Given the description of an element on the screen output the (x, y) to click on. 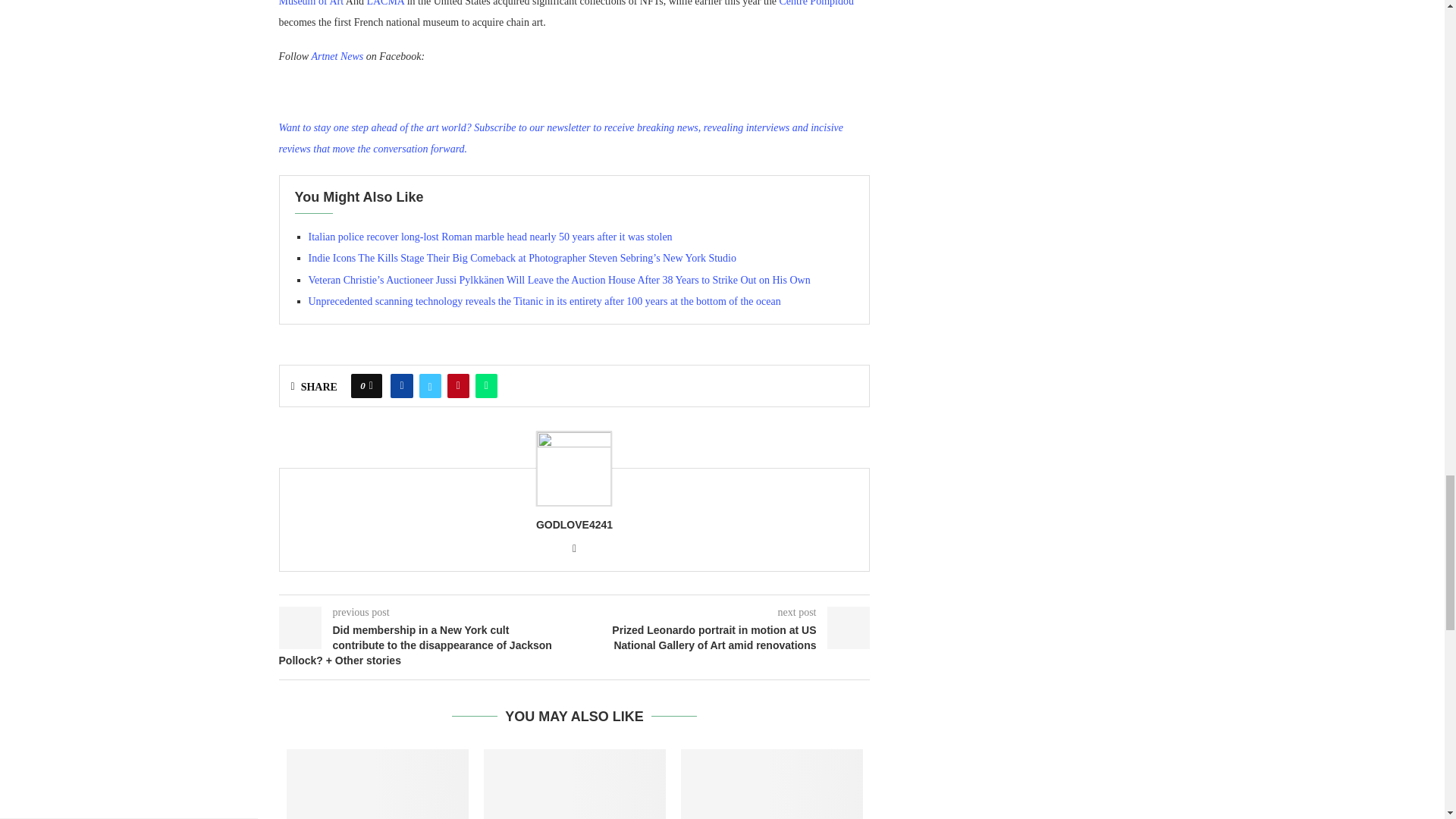
Like (370, 385)
Author godlove4241 (573, 524)
